Given the description of an element on the screen output the (x, y) to click on. 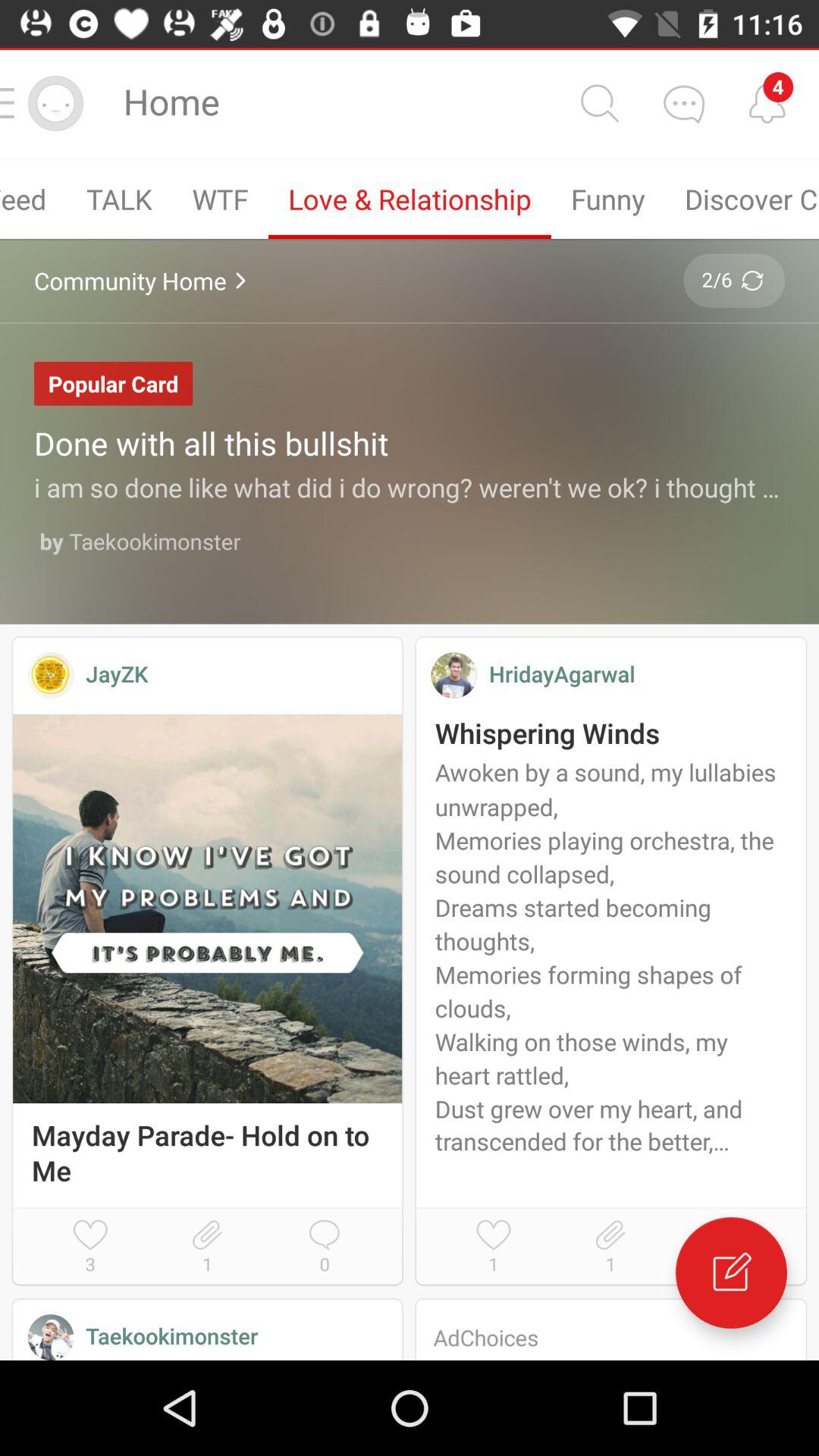
alerts (766, 103)
